Given the description of an element on the screen output the (x, y) to click on. 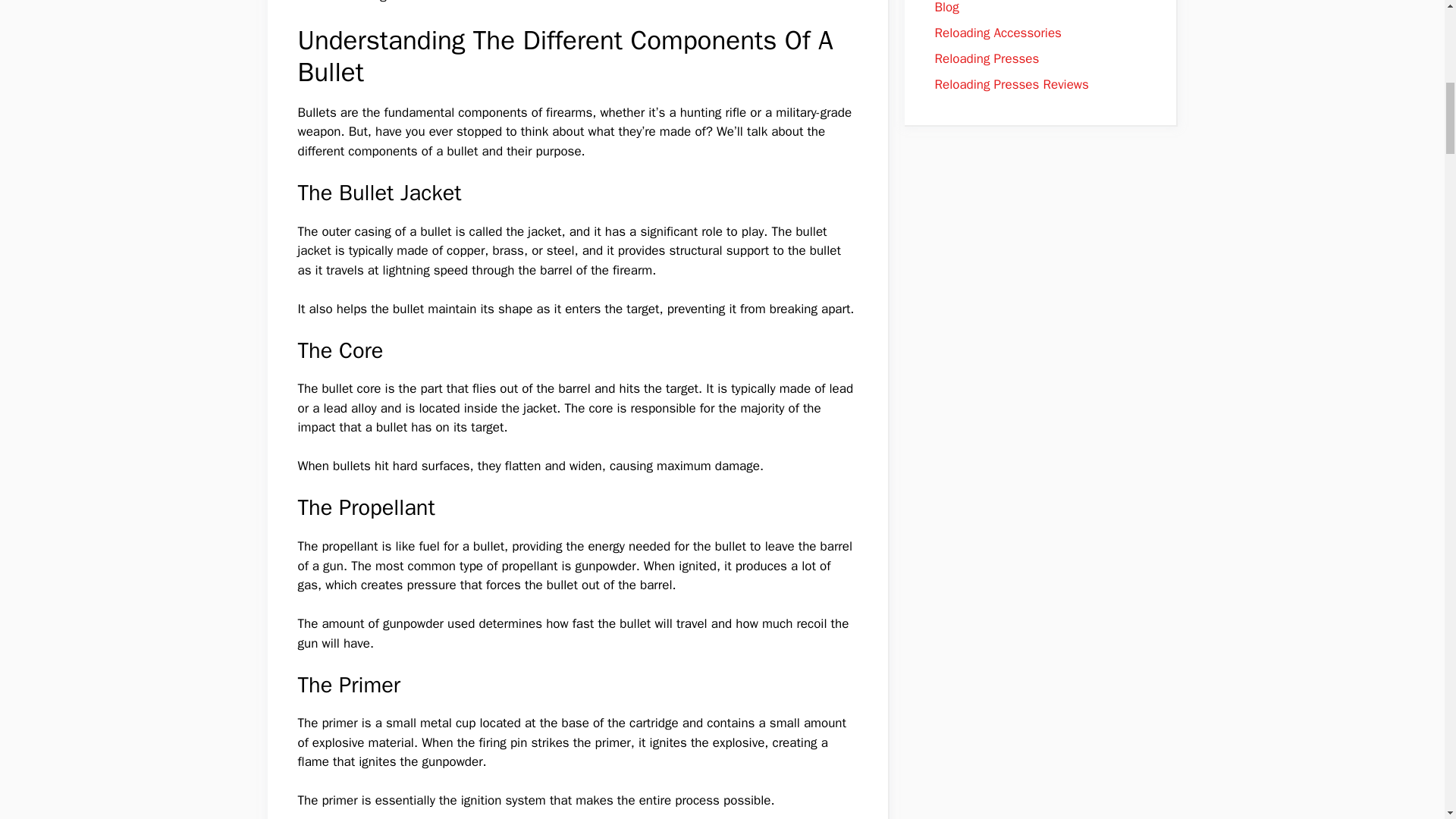
Reloading Accessories (997, 32)
Reloading Presses (986, 58)
Blog (946, 7)
Reloading Presses Reviews (1010, 84)
